Given the description of an element on the screen output the (x, y) to click on. 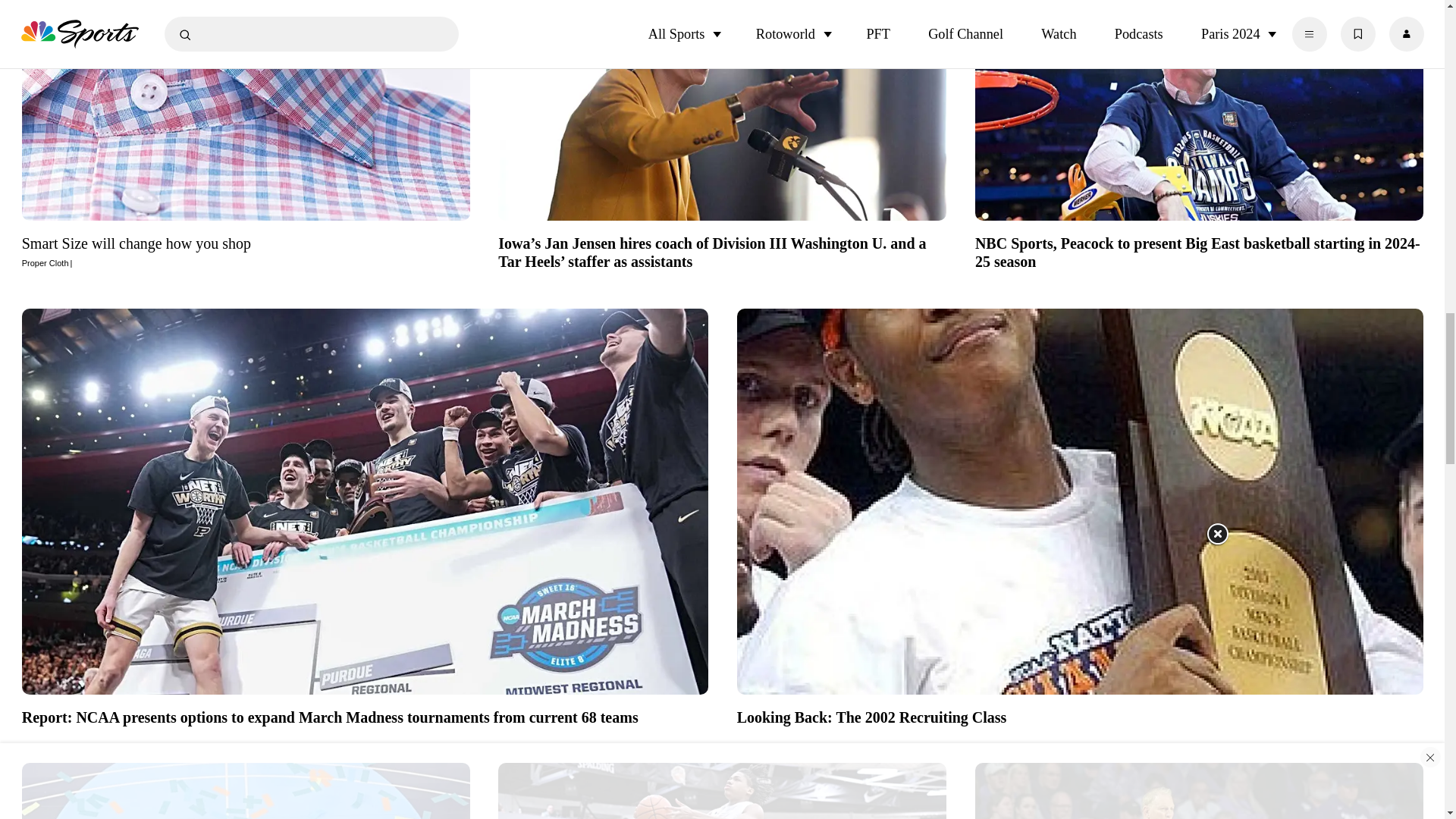
Smart Size will change how you shop (245, 250)
Smart Size will change how you shop (245, 115)
Looking Back: The 2002 Recruiting Class (1079, 714)
